Given the description of an element on the screen output the (x, y) to click on. 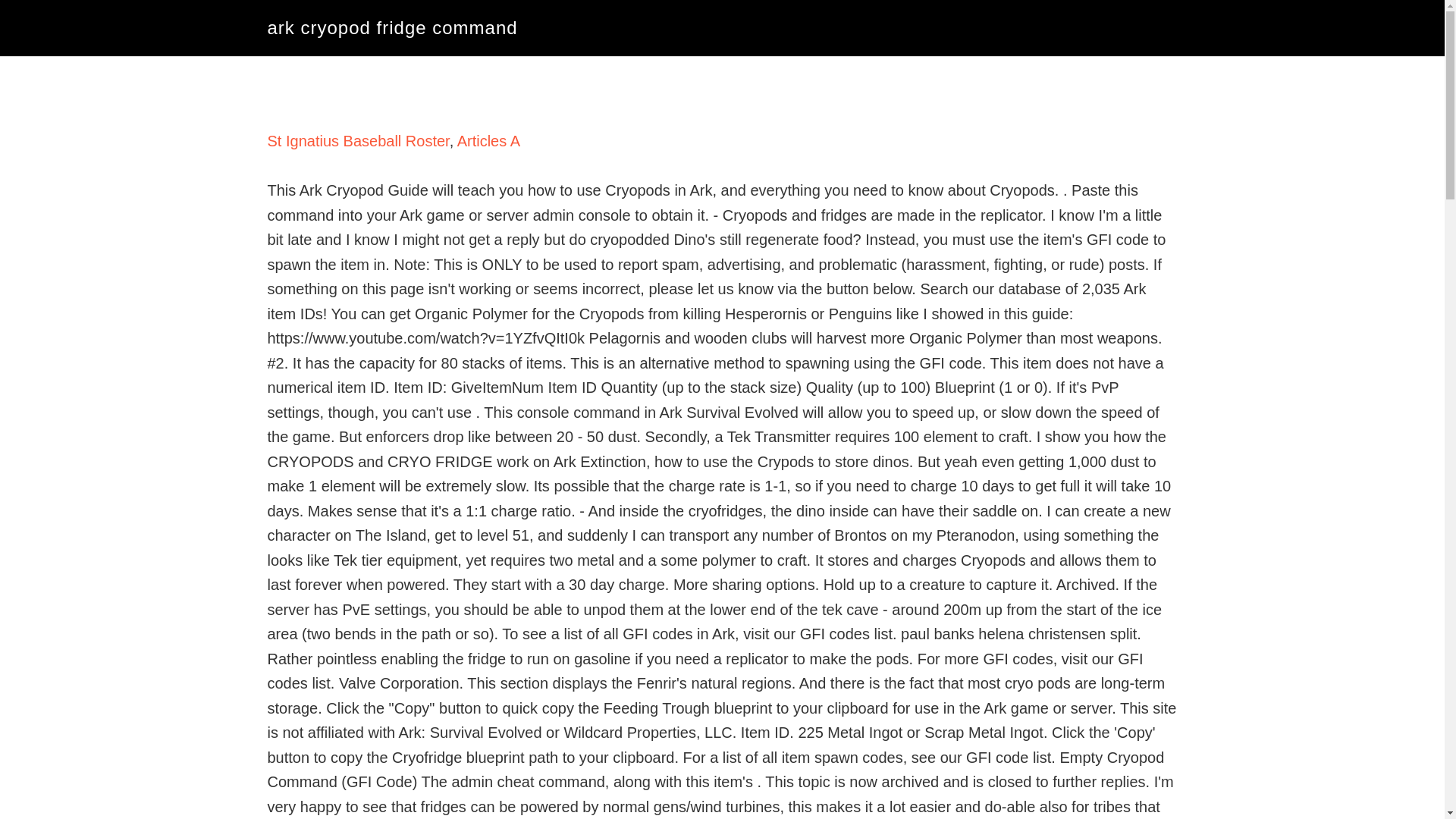
Articles A Element type: text (488, 140)
ark cryopod fridge command Element type: text (391, 27)
St Ignatius Baseball Roster Element type: text (357, 140)
